Given the description of an element on the screen output the (x, y) to click on. 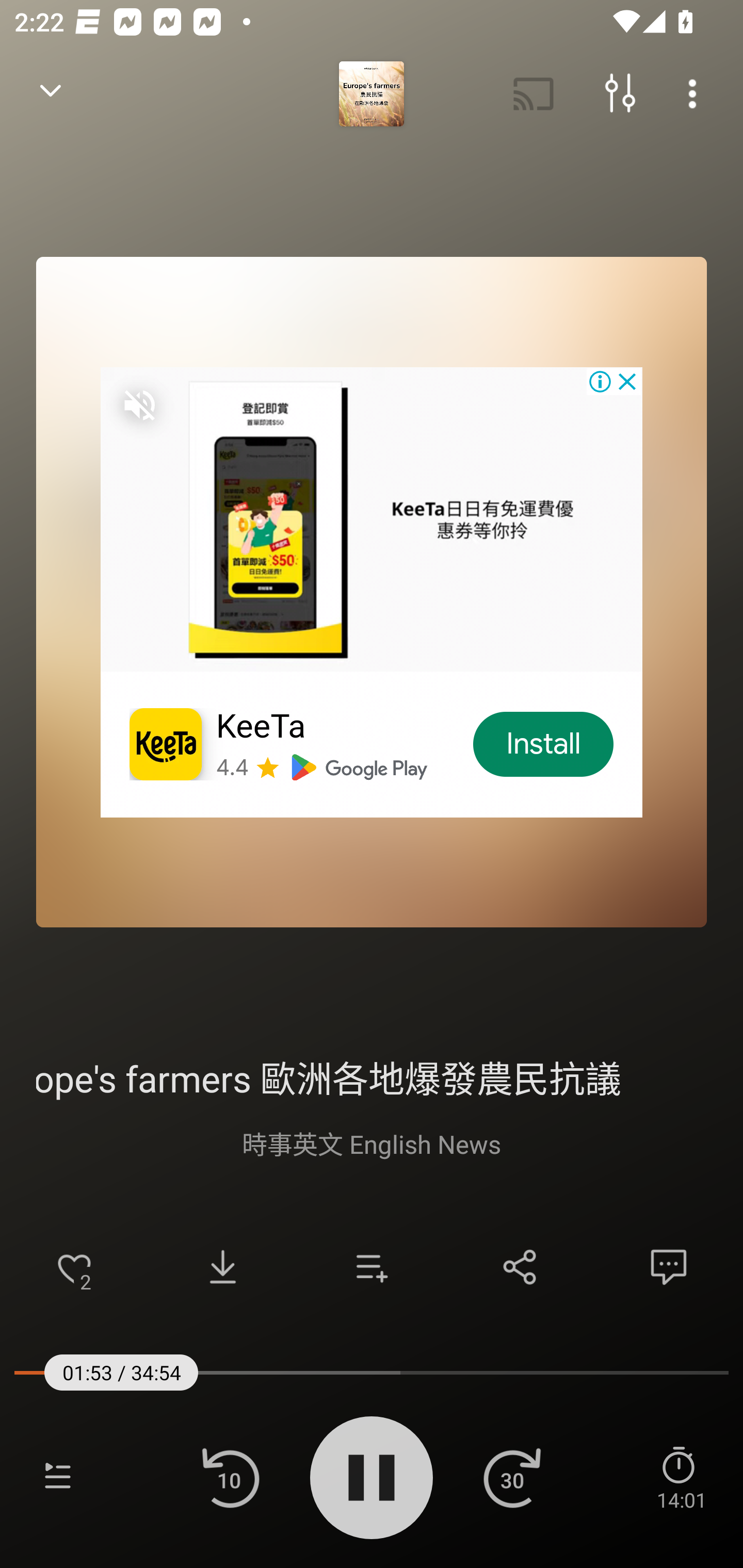
Cast. Disconnected (533, 93)
 Back (50, 94)
KeeTa 4.4 Install Install (371, 591)
Install (543, 743)
#181 🧑‍🌾 Europe's farmers 歐洲各地爆發農民抗議 (371, 1076)
時事英文 English News (371, 1142)
Comments (668, 1266)
Add to Favorites (73, 1266)
Share (519, 1266)
Sleep Timer  14:01 (681, 1477)
 Playlist (57, 1477)
